Given the description of an element on the screen output the (x, y) to click on. 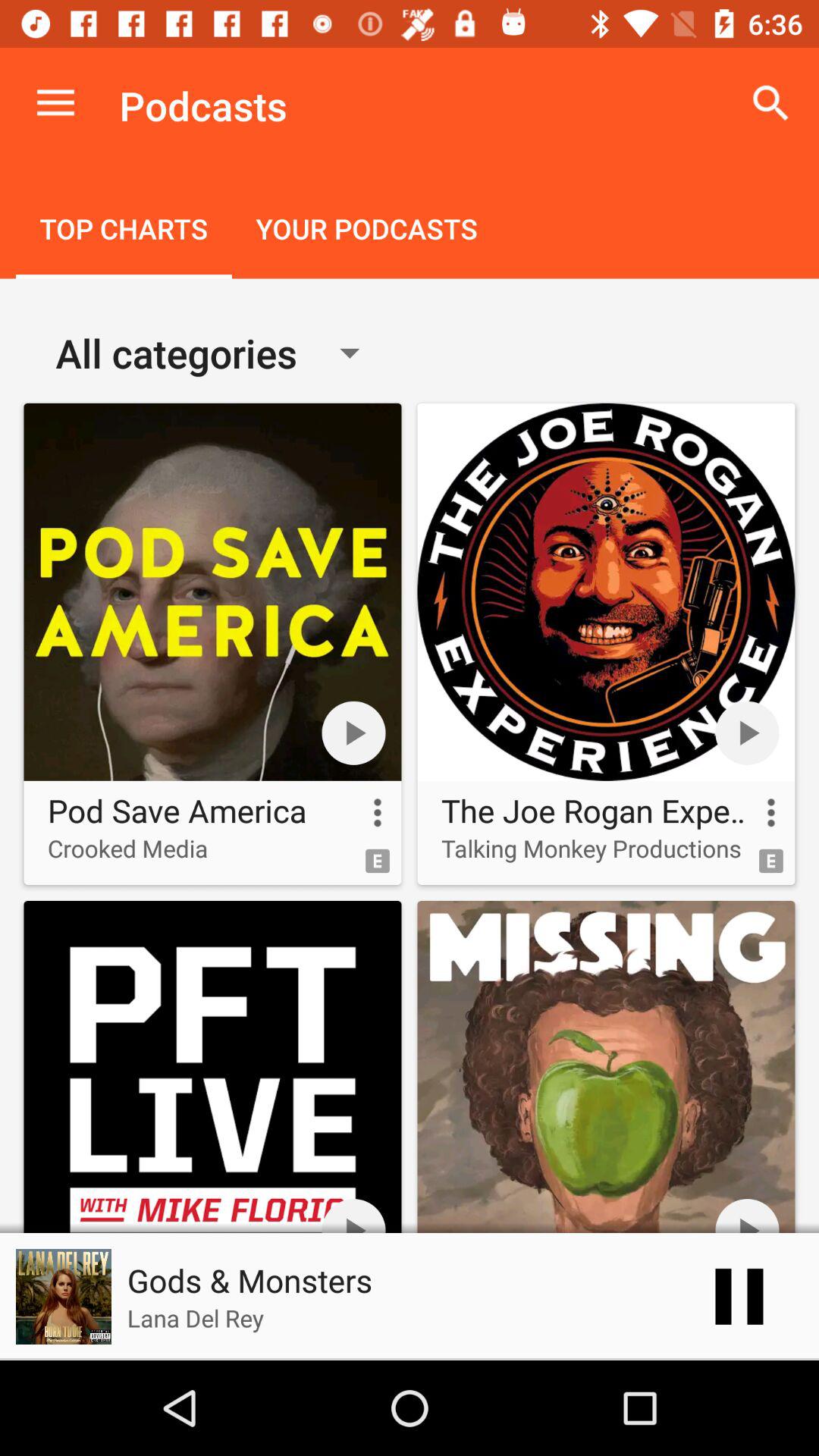
turn off the item next to your podcasts (123, 230)
